Given the description of an element on the screen output the (x, y) to click on. 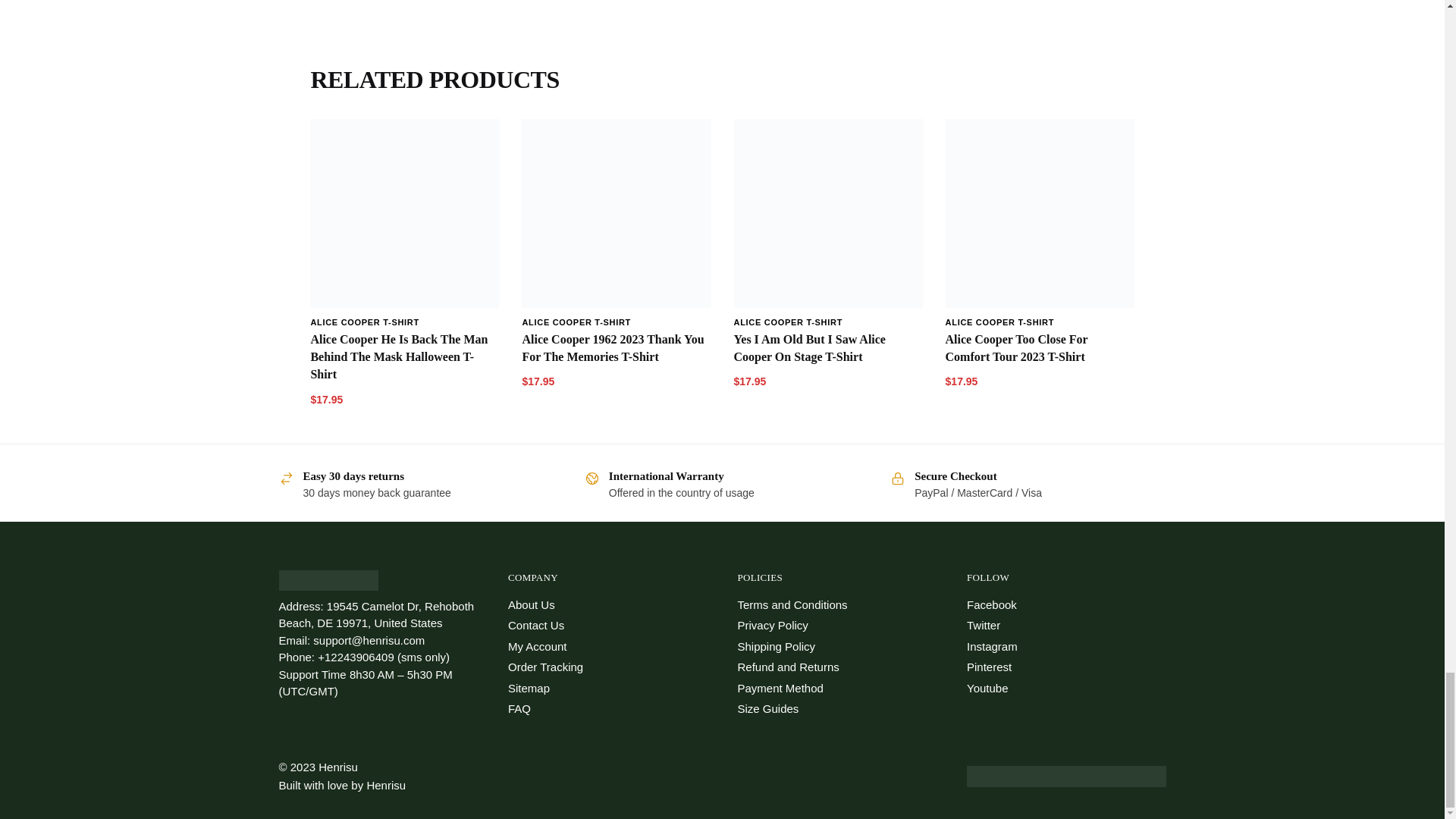
ALICE COOPER T-SHIRT (364, 321)
Alice Cooper 1962 2023 Thank You For The Memories T-Shirt (615, 347)
ALICE COOPER T-SHIRT (575, 321)
